Given the description of an element on the screen output the (x, y) to click on. 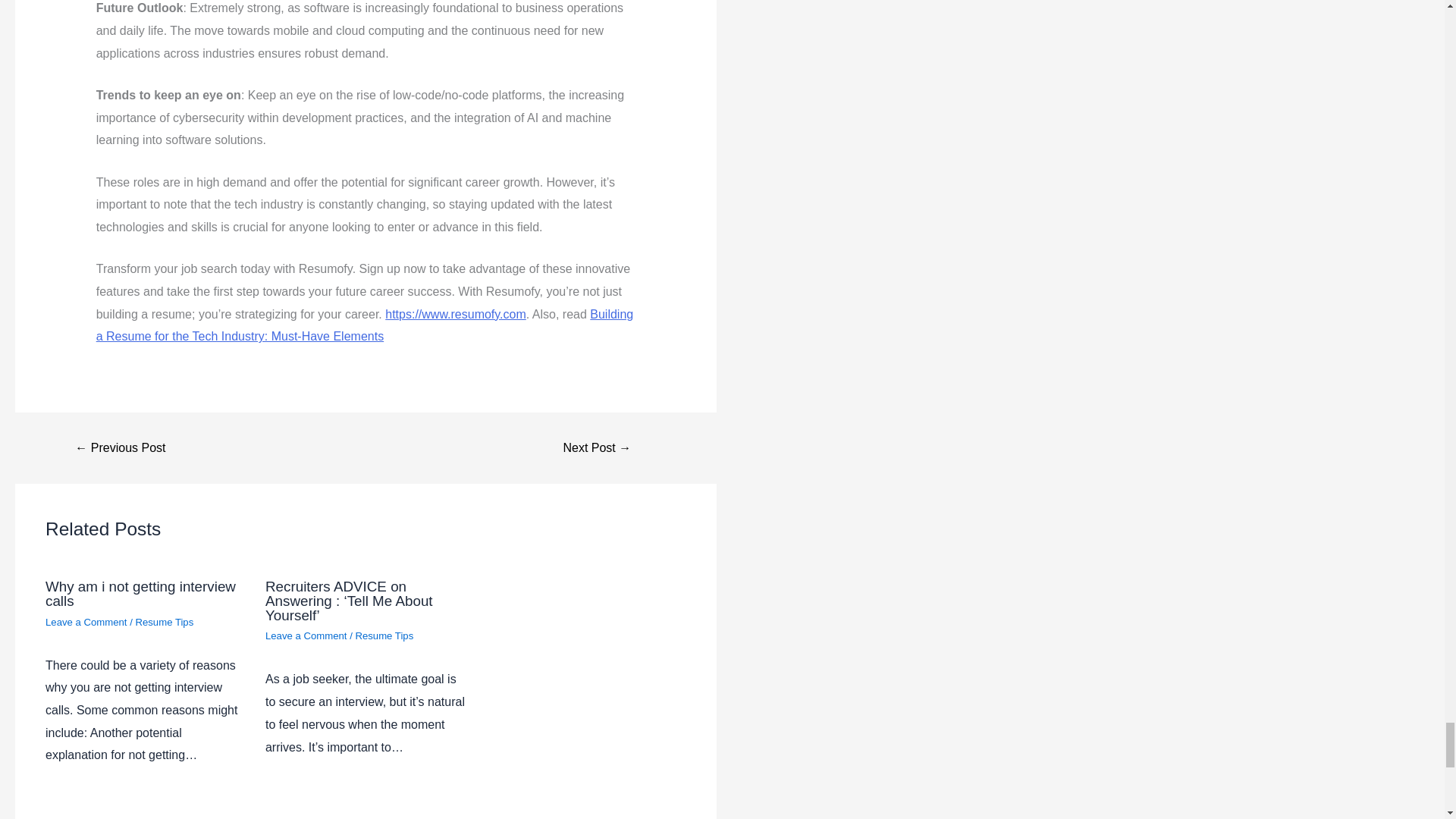
Why am i not getting interview calls (140, 593)
Top Resume Mistakes to Avoid: Insights from Recruiters (119, 448)
Leave a Comment (86, 622)
Resume considerations for Indian Market (597, 448)
Resume Tips (164, 622)
Building a Resume for the Tech Industry: Must-Have Elements (364, 325)
